Given the description of an element on the screen output the (x, y) to click on. 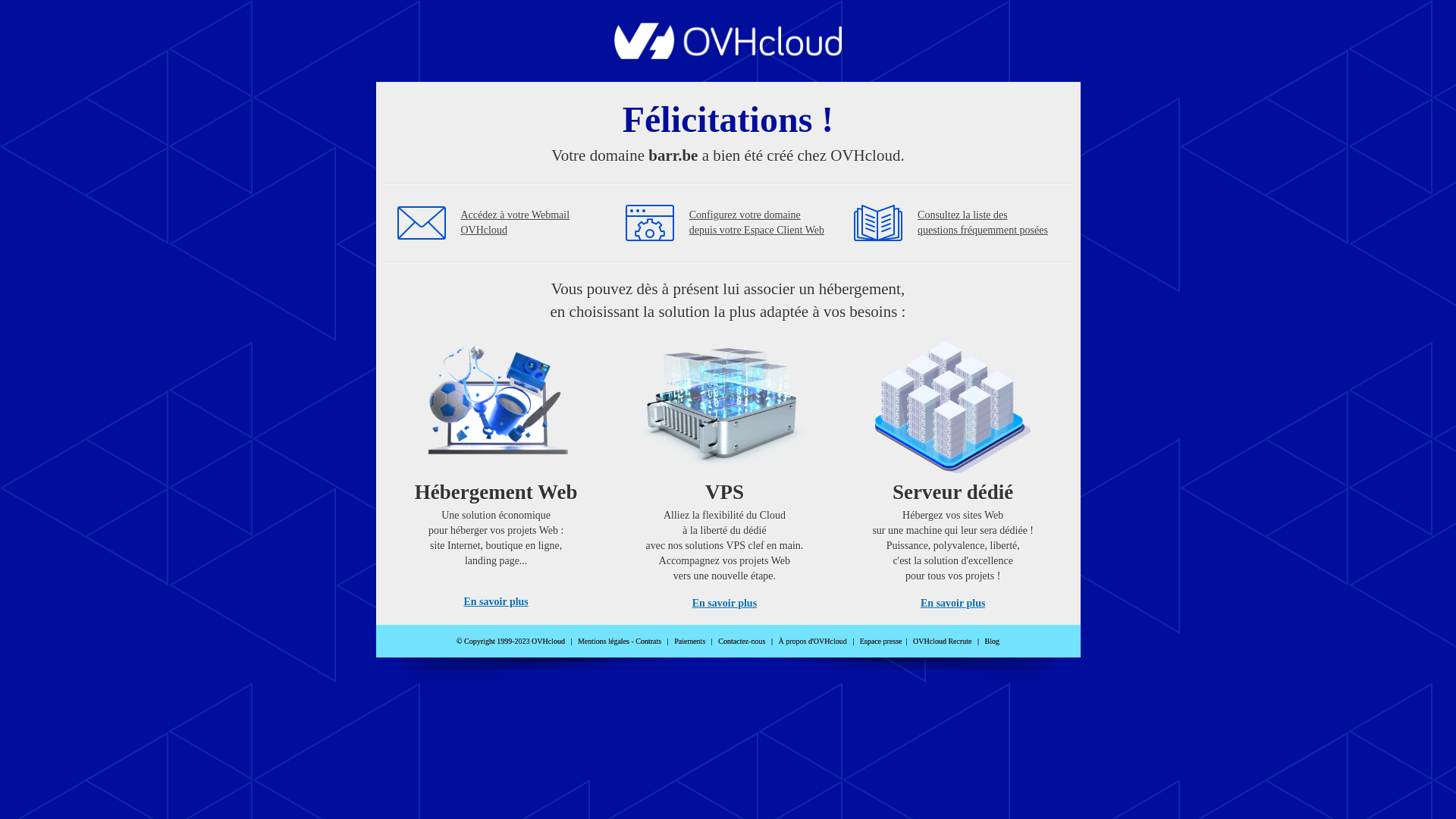
En savoir plus Element type: text (952, 602)
VPS Element type: hover (724, 469)
En savoir plus Element type: text (724, 602)
Blog Element type: text (992, 641)
Contactez-nous Element type: text (741, 641)
OVHcloud Element type: hover (727, 54)
Espace presse Element type: text (880, 641)
Paiements Element type: text (689, 641)
Configurez votre domaine
depuis votre Espace Client Web Element type: text (756, 222)
OVHcloud Recrute Element type: text (942, 641)
En savoir plus Element type: text (495, 601)
